Given the description of an element on the screen output the (x, y) to click on. 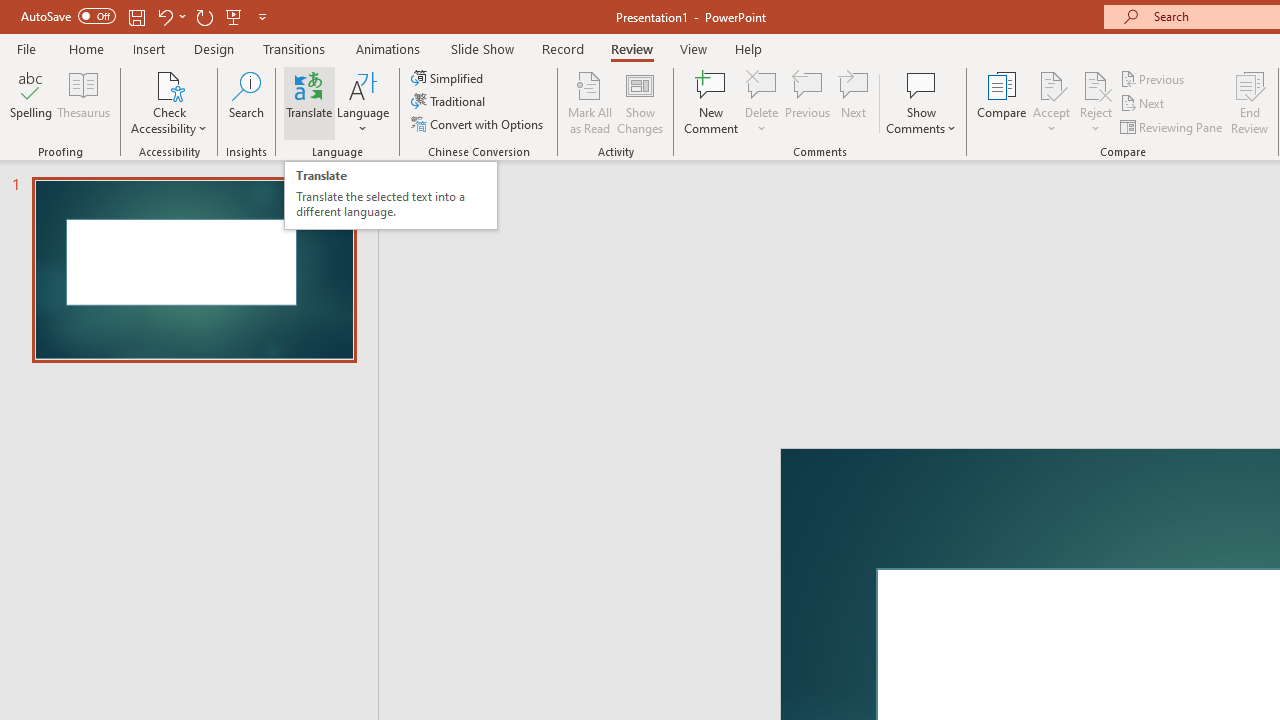
Next (1144, 103)
New Comment (711, 102)
Thesaurus... (83, 102)
